Given the description of an element on the screen output the (x, y) to click on. 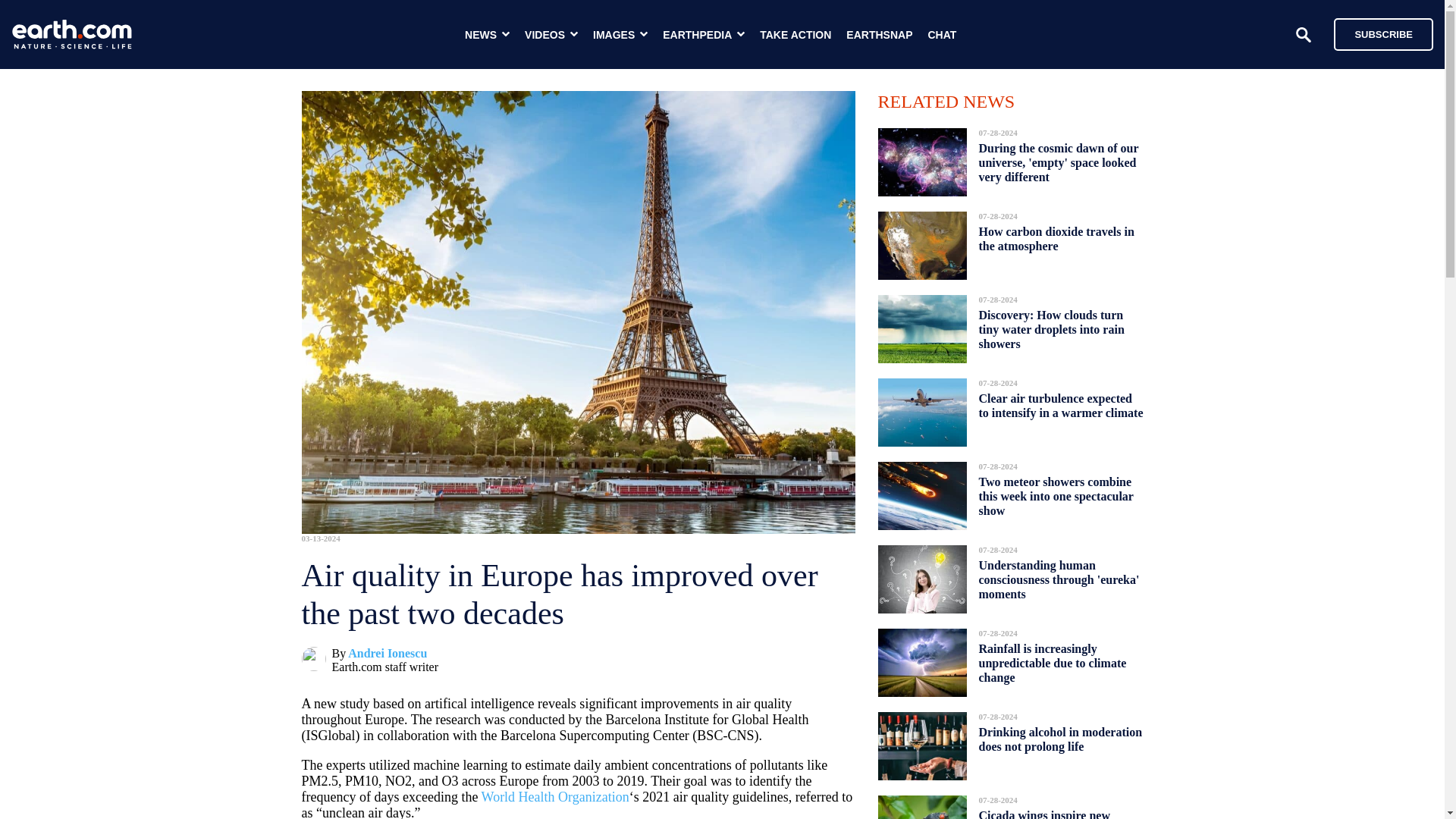
SUBSCRIBE (1375, 33)
World Health Organization (554, 796)
Understanding human consciousness through 'eureka' moments (1058, 579)
CHAT (941, 34)
Drinking alcohol in moderation does not prolong life (1059, 739)
How carbon dioxide travels in the atmosphere (1056, 238)
Cicada wings inspire new antibacterial technologies (1044, 810)
Andrei Ionescu (386, 653)
TAKE ACTION (795, 34)
EARTHSNAP (878, 34)
SUBSCRIBE (1382, 34)
